Given the description of an element on the screen output the (x, y) to click on. 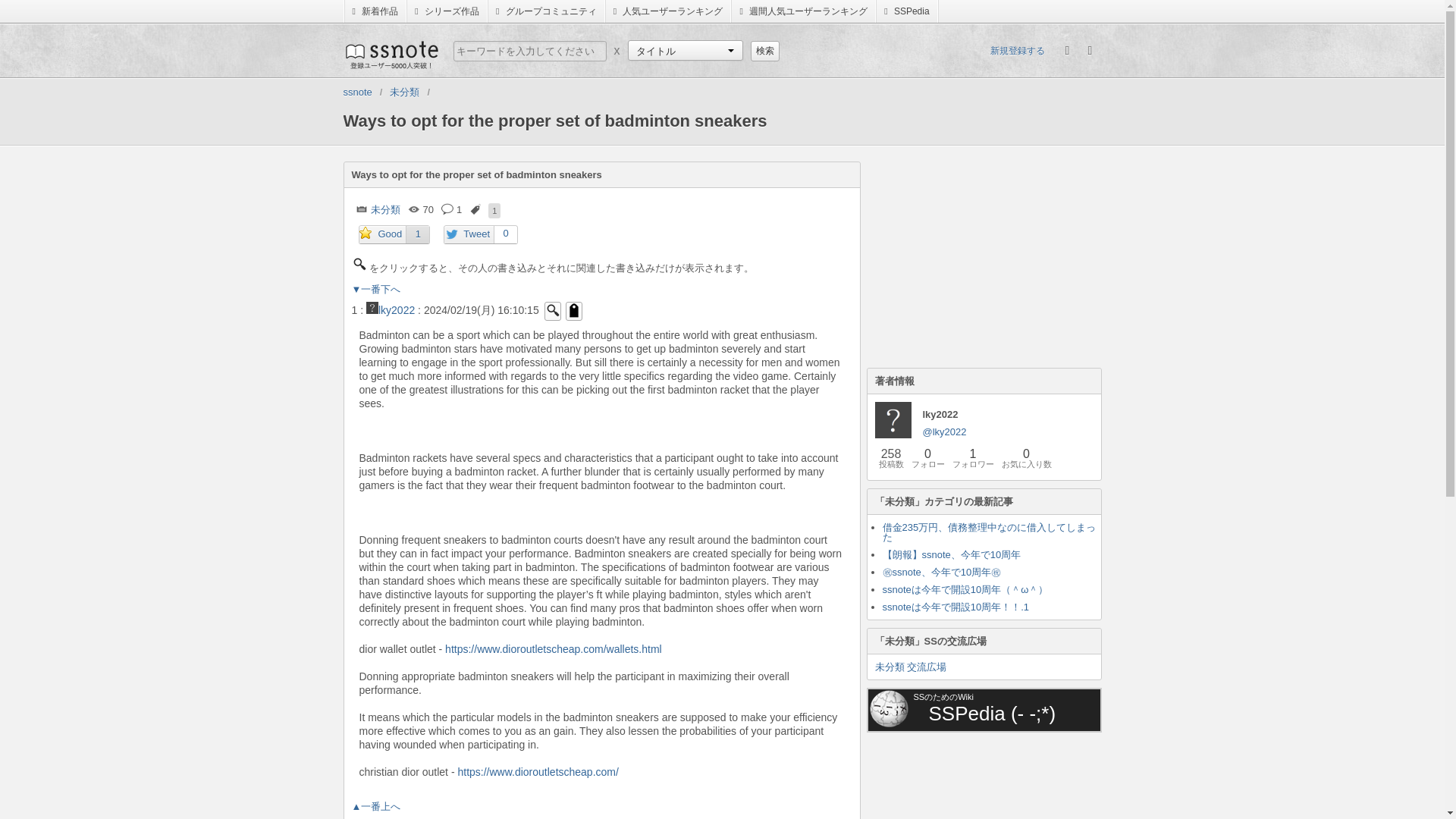
lky2022 (390, 309)
ssnote (390, 54)
1 (417, 233)
Tweet (468, 235)
Advertisement (979, 256)
ssnote (356, 91)
1 (493, 210)
Advertisement (979, 779)
0 (505, 233)
SSPedia (906, 11)
